Given the description of an element on the screen output the (x, y) to click on. 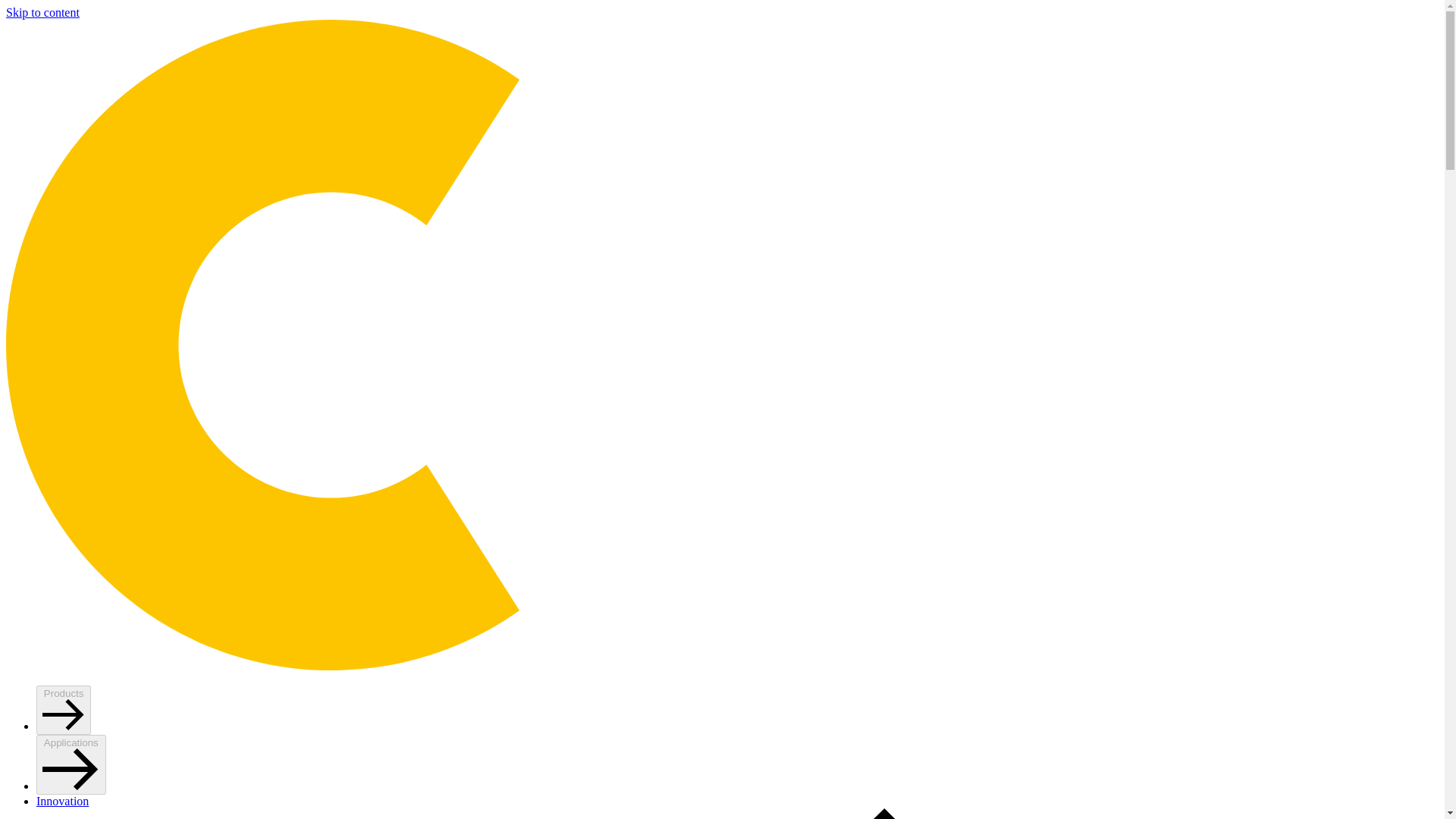
Applications (71, 764)
Skip to content (42, 11)
Products (63, 709)
